Given the description of an element on the screen output the (x, y) to click on. 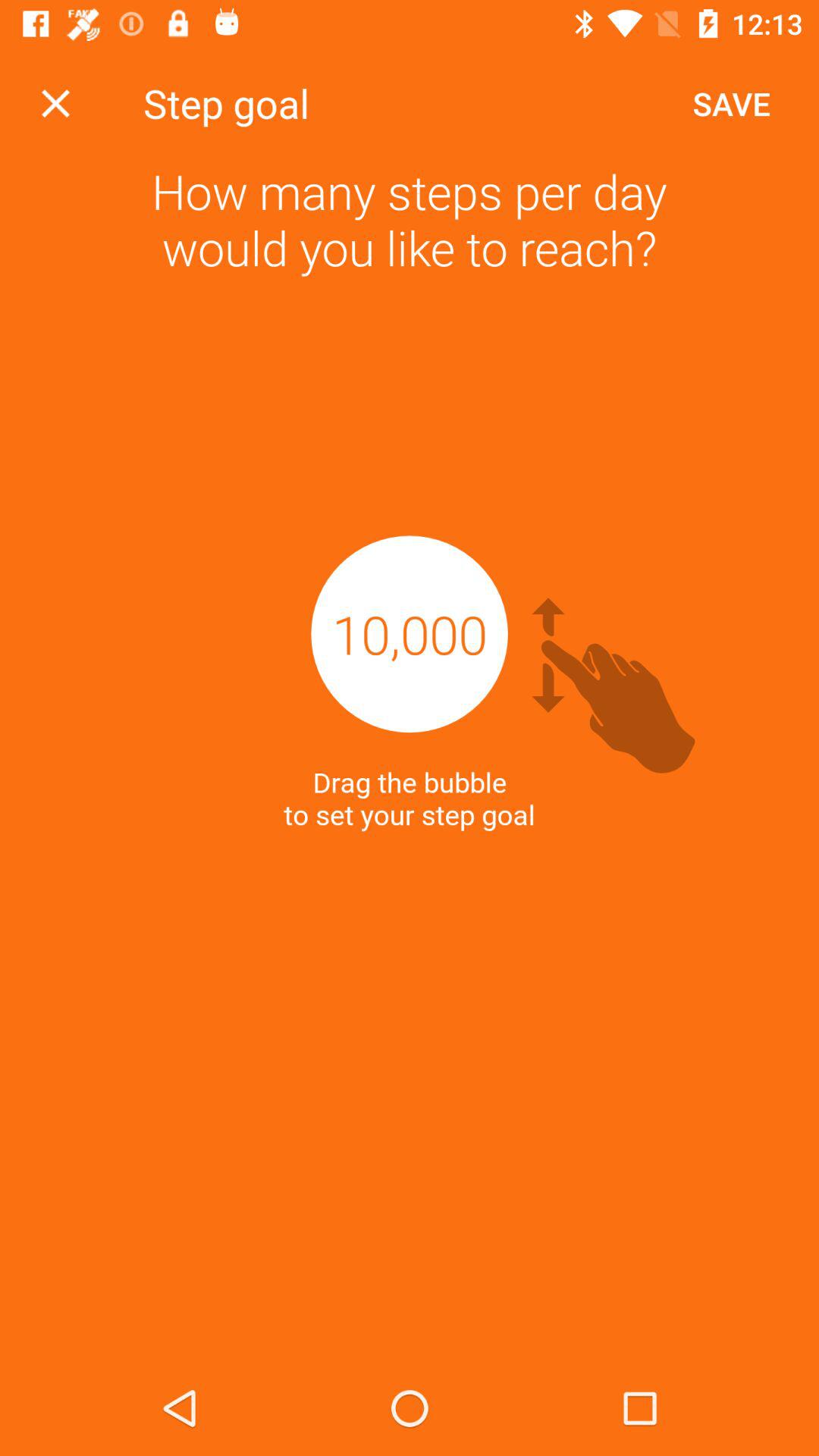
closes current screen (55, 103)
